Given the description of an element on the screen output the (x, y) to click on. 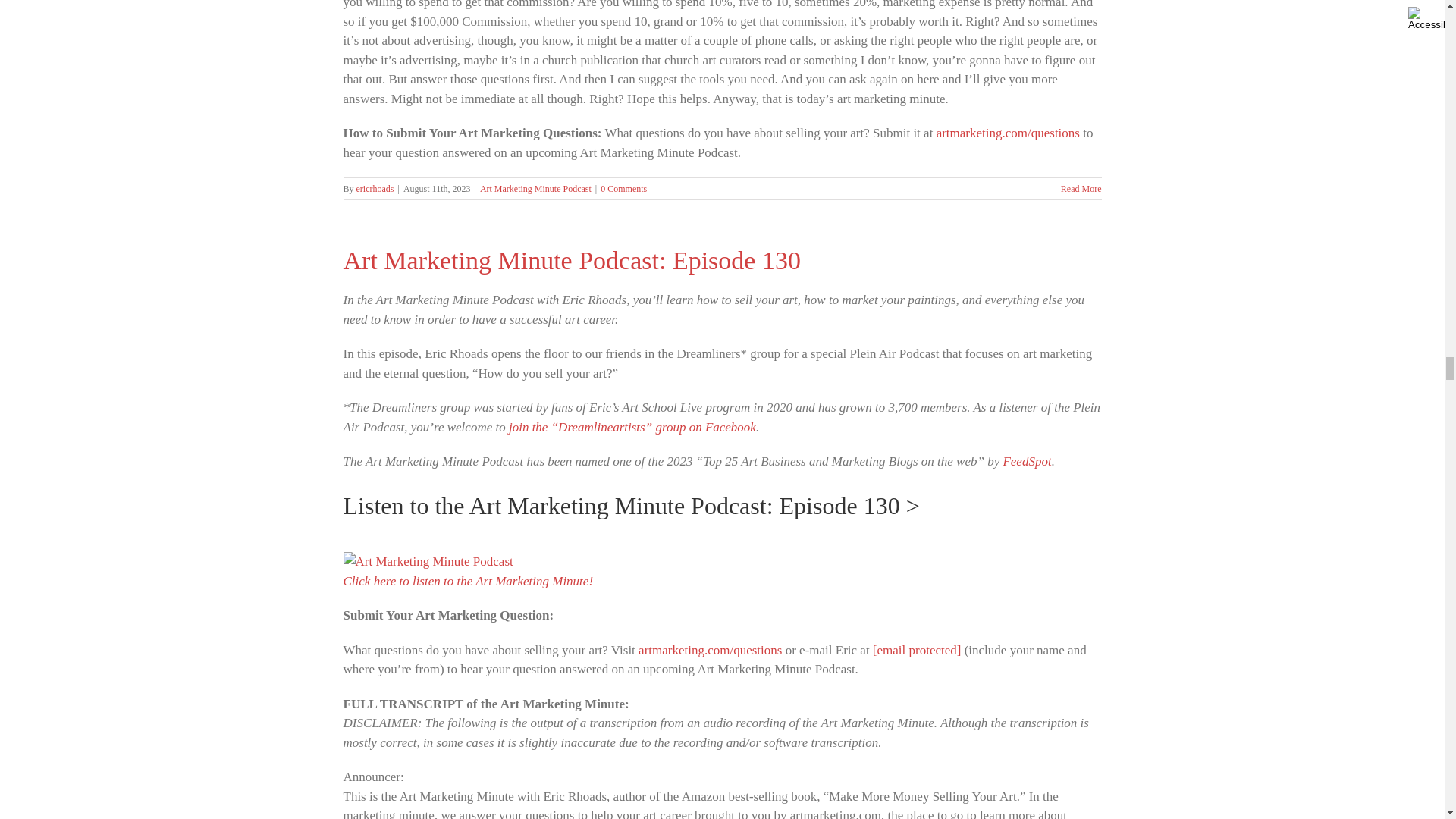
Posts by ericrhoads (375, 188)
